Given the description of an element on the screen output the (x, y) to click on. 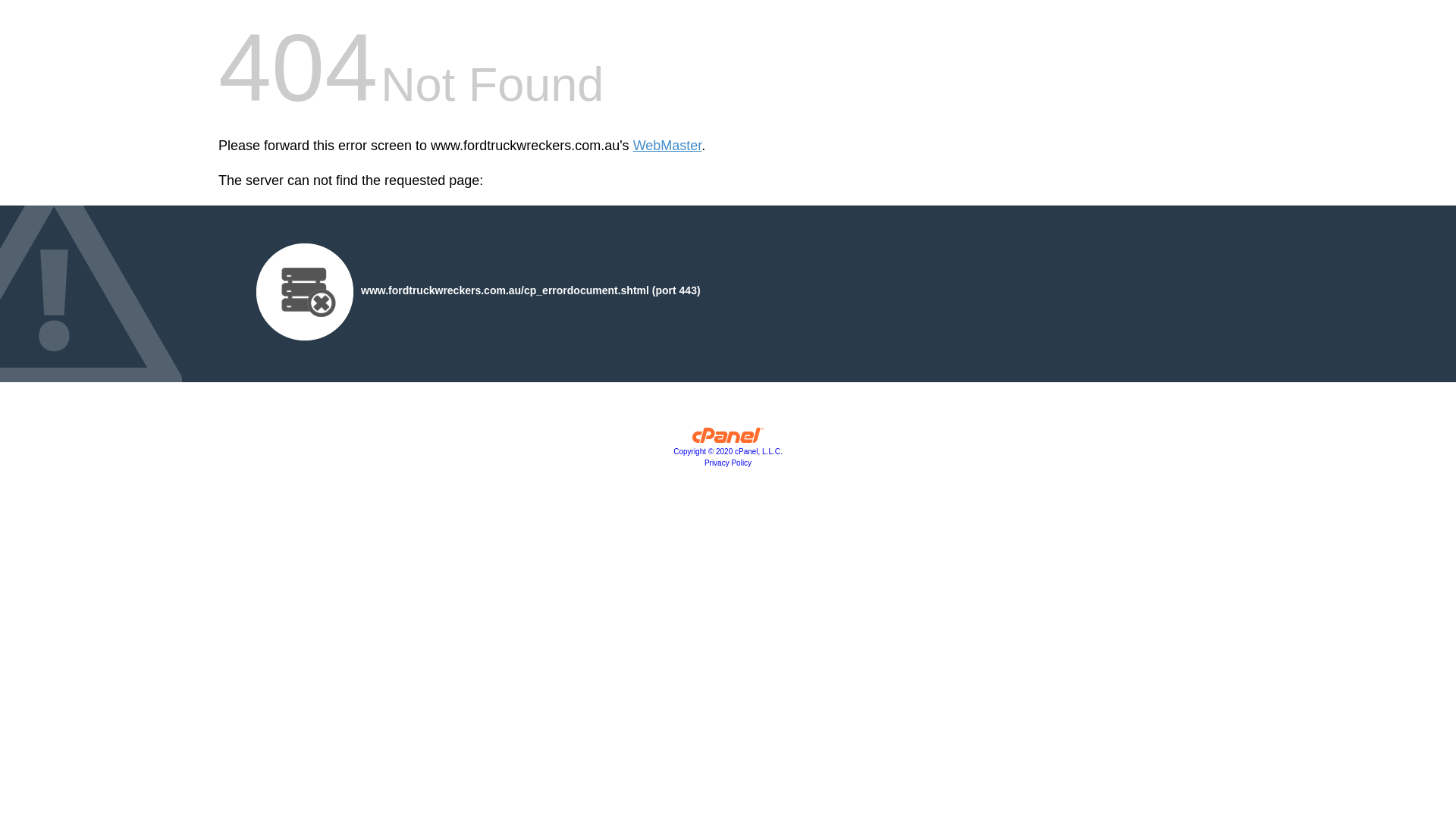
WebMaster Element type: text (667, 145)
cPanel, Inc. Element type: hover (728, 439)
Privacy Policy Element type: text (727, 462)
